Given the description of an element on the screen output the (x, y) to click on. 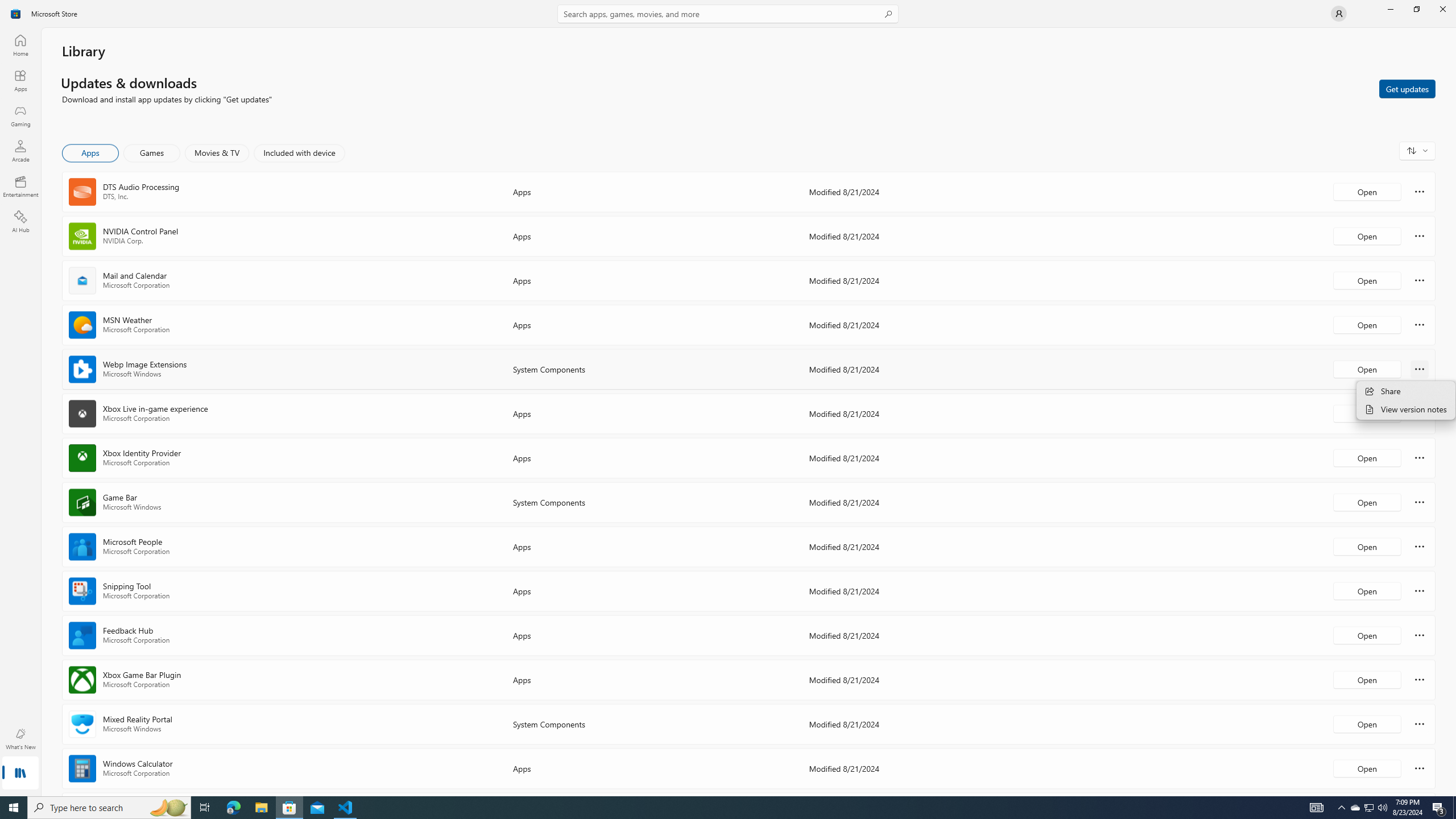
More options (1419, 768)
Games (151, 153)
Sort and filter (1417, 149)
Movies & TV (216, 153)
Get updates (1406, 88)
AI Hub (20, 221)
